Given the description of an element on the screen output the (x, y) to click on. 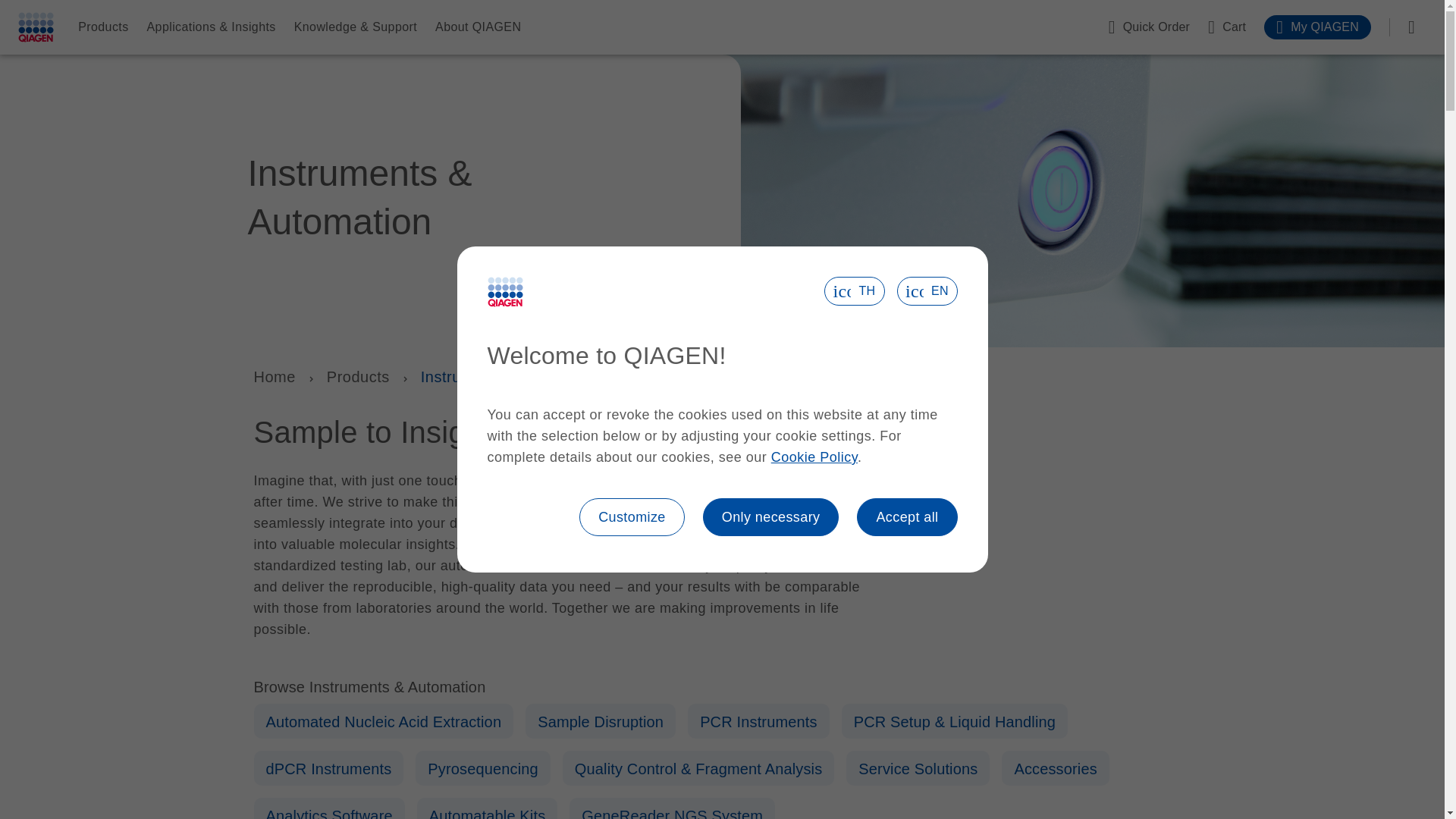
Products (358, 376)
About QIAGEN (478, 27)
About QIAGEN (478, 27)
Cookie Policy (814, 457)
Quick Order (1148, 27)
Products (103, 27)
Automated Nucleic Acid Extraction (382, 721)
Sample Disruption (600, 721)
Products (103, 27)
Quick Order (1148, 27)
Customize (631, 516)
Only necessary (771, 516)
Cart (1227, 27)
Cart (1227, 27)
Accept all (906, 516)
